Given the description of an element on the screen output the (x, y) to click on. 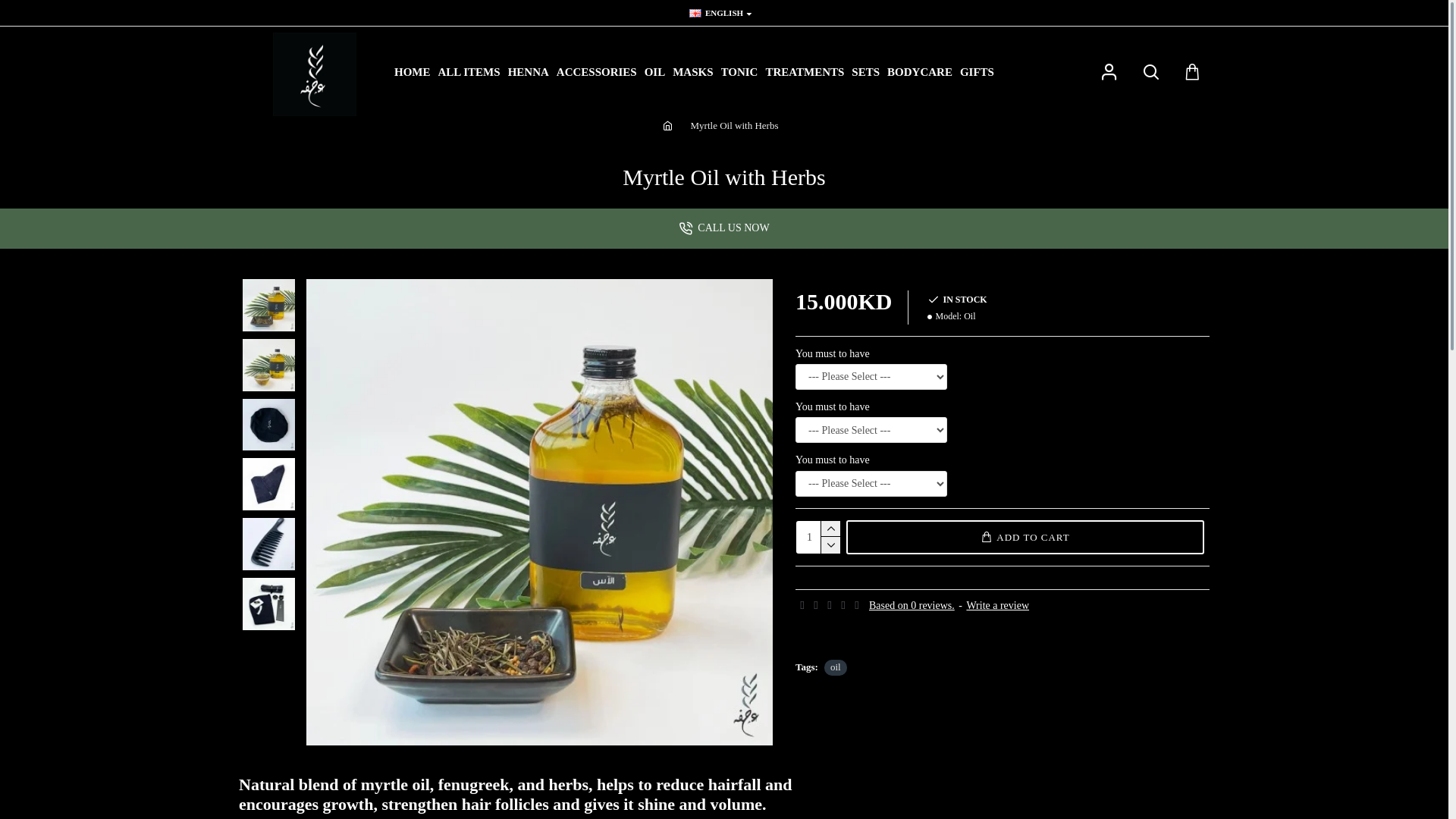
Myrtle Oil with Herbs Element type: hover (539, 512)
TONIC Element type: text (739, 71)
Based on 0 reviews. Element type: text (911, 605)
Myrtle Oil with Herbs Element type: hover (268, 603)
Myrtle Oil with Herbs Element type: hover (268, 484)
HOME Element type: text (412, 71)
Myrtle Oil with Herbs Element type: text (734, 126)
Myrtle Oil with Herbs Element type: hover (268, 424)
OIL Element type: text (654, 71)
English Element type: hover (695, 13)
Myrtle Oil with Herbs Element type: hover (268, 305)
Myrtle Oil with Herbs Element type: hover (268, 543)
ACCESSORIES Element type: text (596, 71)
Myrtle Oil with Herbs Element type: hover (1005, 512)
CALL US NOW Element type: text (723, 228)
MASKS Element type: text (692, 71)
HENNA Element type: text (528, 71)
Myrtle Oil with Herbs Element type: hover (268, 364)
ENGLISH Element type: text (716, 13)
oil Element type: text (835, 667)
BODYCARE Element type: text (919, 71)
Write a review Element type: text (997, 605)
GIFTS Element type: text (976, 71)
TREATMENTS Element type: text (804, 71)
ADD TO CART Element type: text (1025, 537)
ALL ITEMS Element type: text (468, 71)
SETS Element type: text (865, 71)
